Given the description of an element on the screen output the (x, y) to click on. 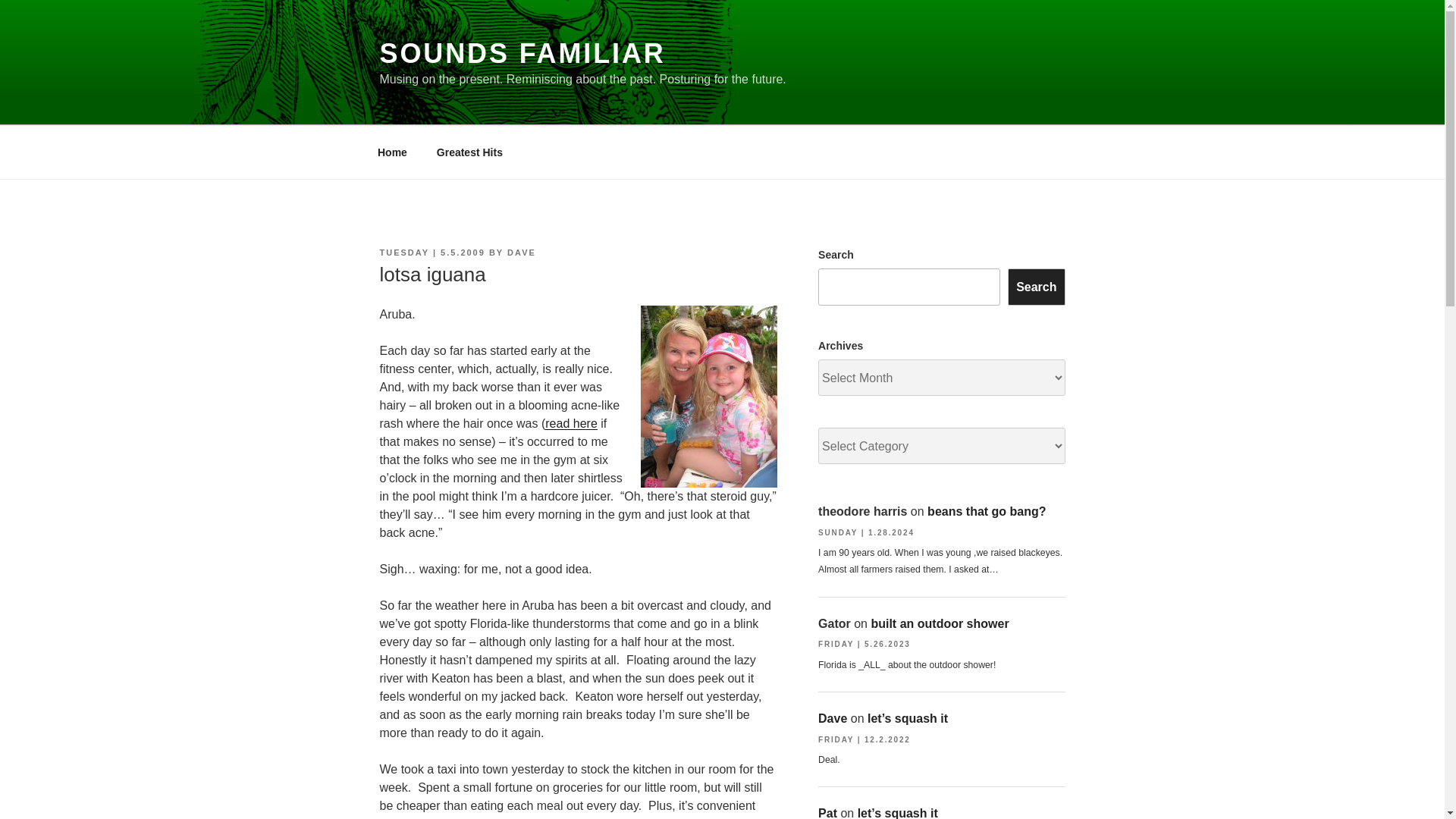
Pat (827, 812)
beans that go bang? (986, 511)
Dave (832, 717)
Home (392, 151)
Search (1035, 286)
SOUNDS FAMILIAR (521, 52)
built an outdoor shower (939, 623)
read here (570, 422)
DAVE (520, 252)
Greatest Hits (469, 151)
